Given the description of an element on the screen output the (x, y) to click on. 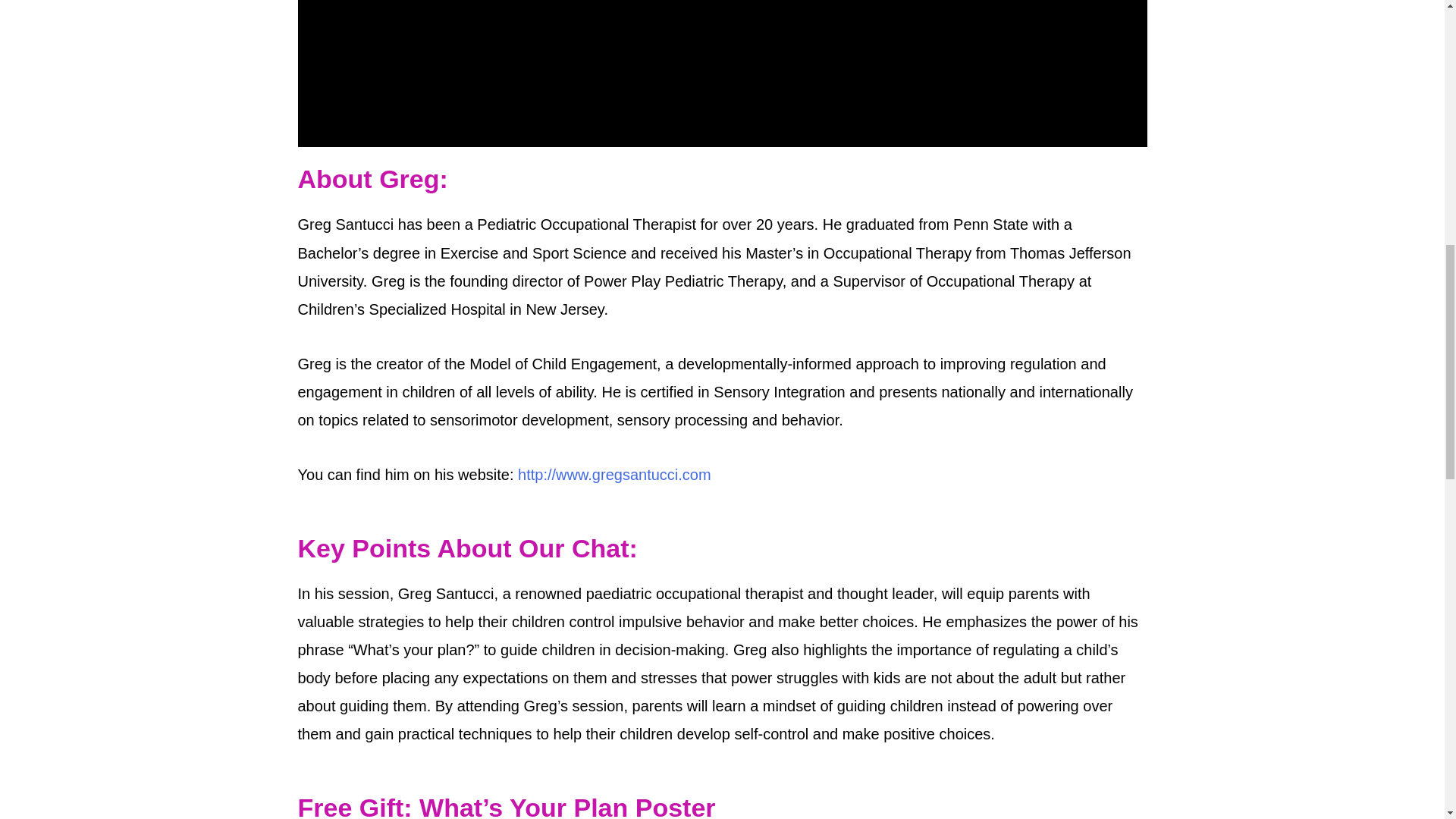
vimeo Video Player (722, 73)
